Given the description of an element on the screen output the (x, y) to click on. 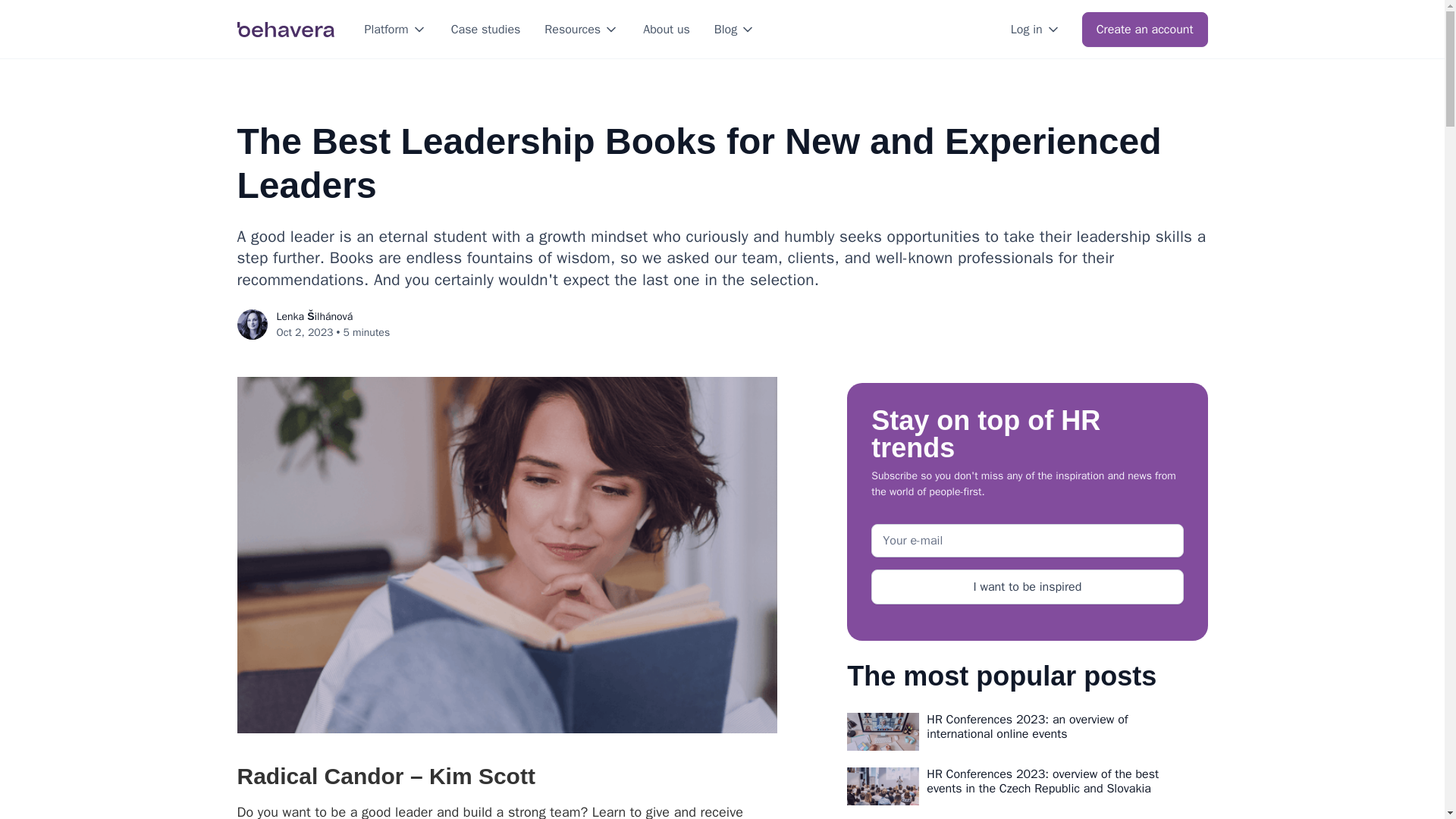
Blog (725, 29)
I want to be inspired (1026, 586)
About us (665, 29)
Create an account (1144, 29)
I want to be inspired (1026, 586)
Case studies (485, 29)
